Given the description of an element on the screen output the (x, y) to click on. 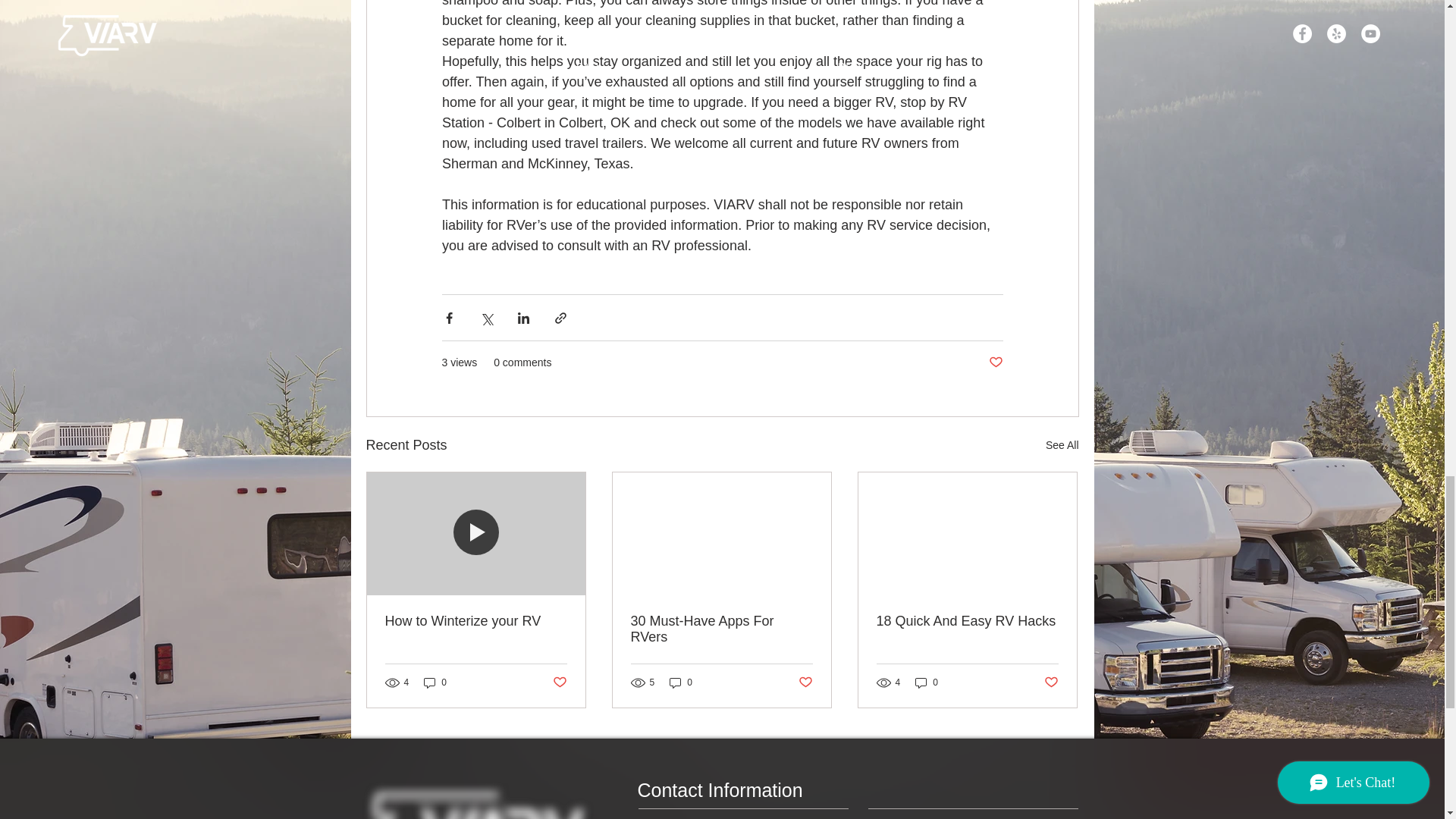
Post not marked as liked (995, 362)
How to Winterize your RV (476, 621)
30 Must-Have Apps For RVers (721, 629)
Post not marked as liked (804, 682)
0 (681, 682)
Post not marked as liked (558, 682)
18 Quick And Easy RV Hacks (967, 621)
See All (1061, 445)
0 (435, 682)
